Given the description of an element on the screen output the (x, y) to click on. 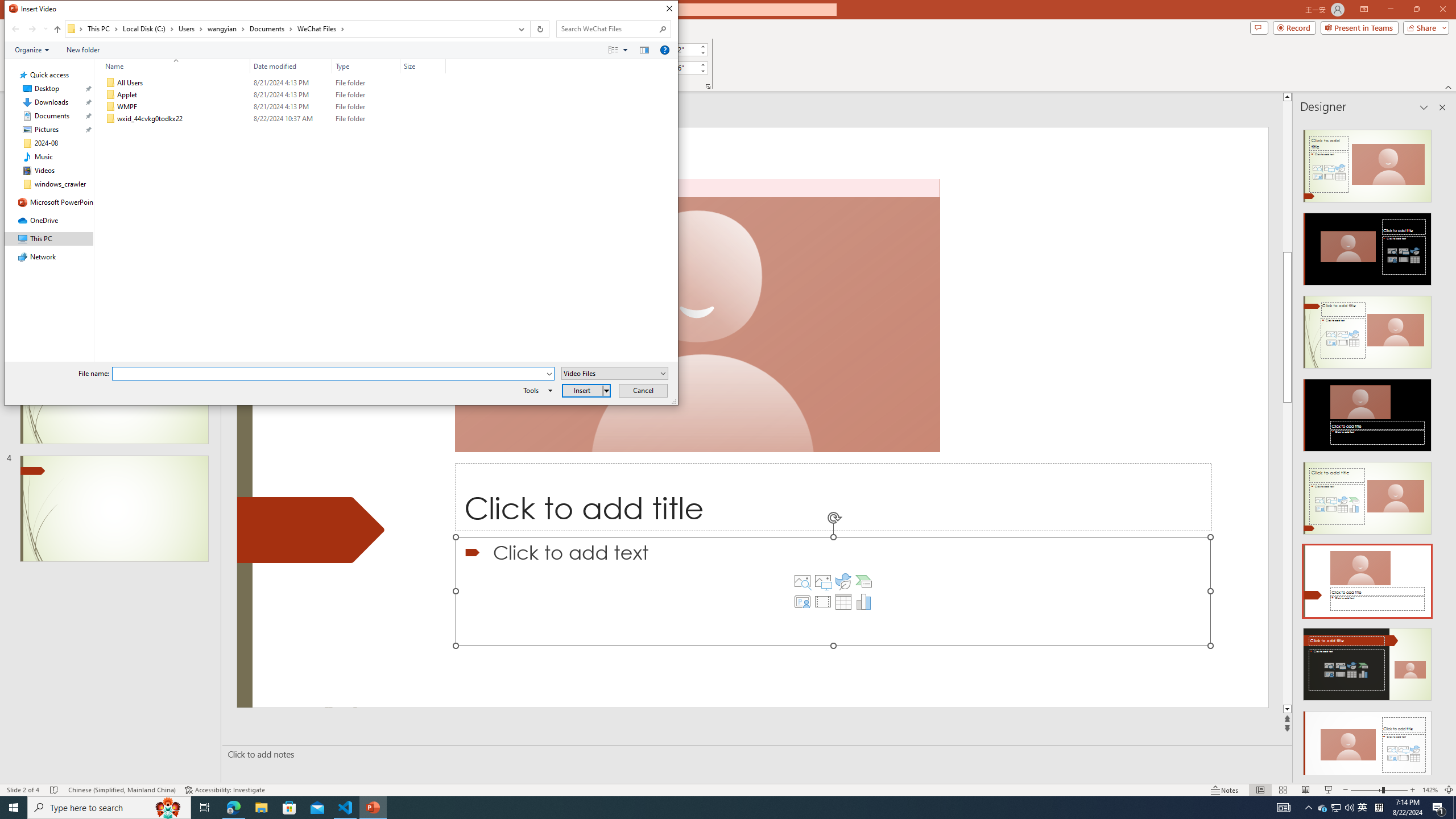
Page down (1450, 553)
Type here to search (108, 807)
Tools (535, 390)
Name (183, 119)
Preview pane (644, 49)
Cancel (643, 390)
Stock Images (801, 581)
Size (422, 119)
Insert Video (822, 601)
Page up (1450, 176)
Recent locations (44, 28)
